Given the description of an element on the screen output the (x, y) to click on. 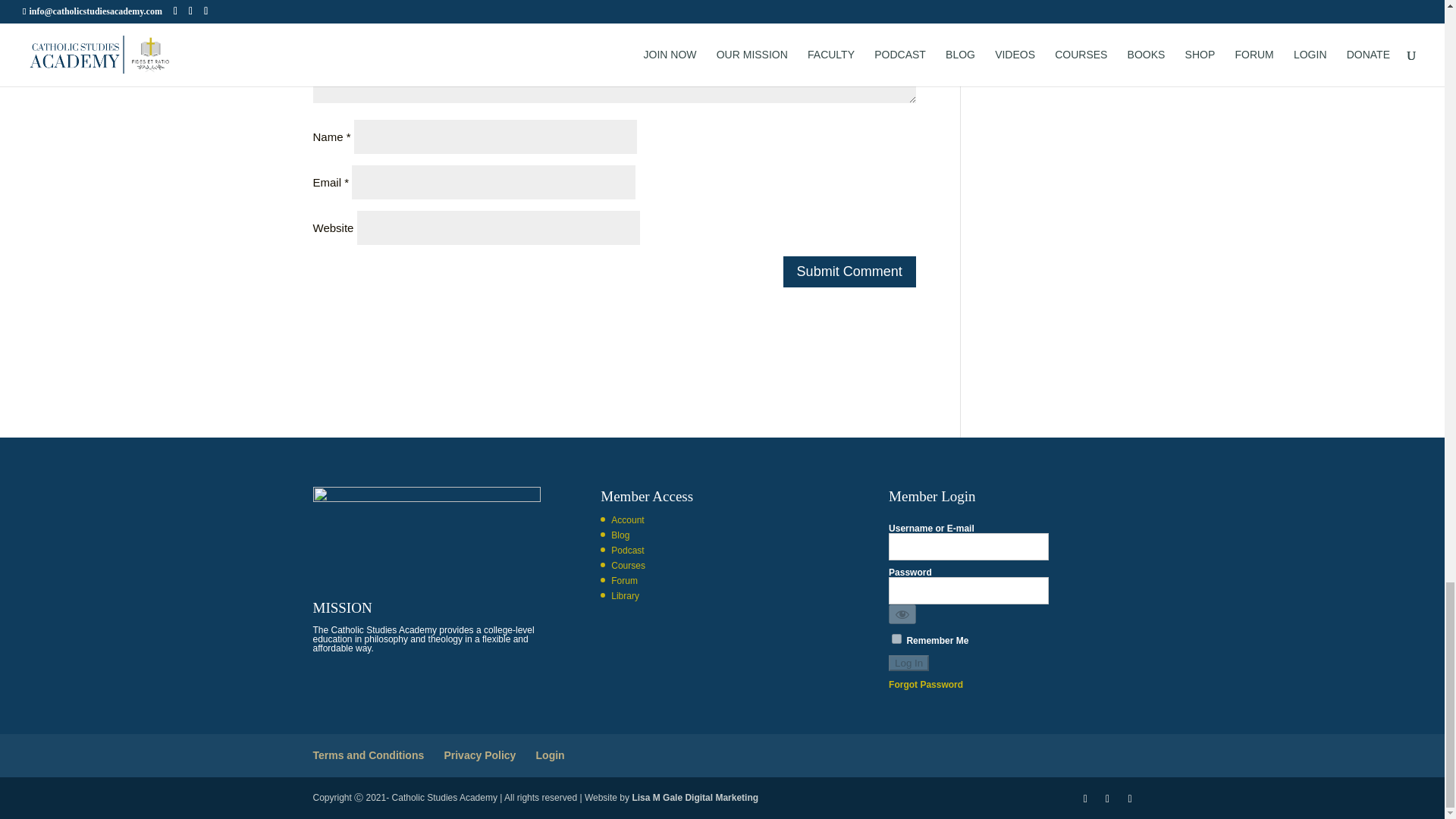
forever (896, 638)
Log In (908, 662)
Submit Comment (849, 271)
